Given the description of an element on the screen output the (x, y) to click on. 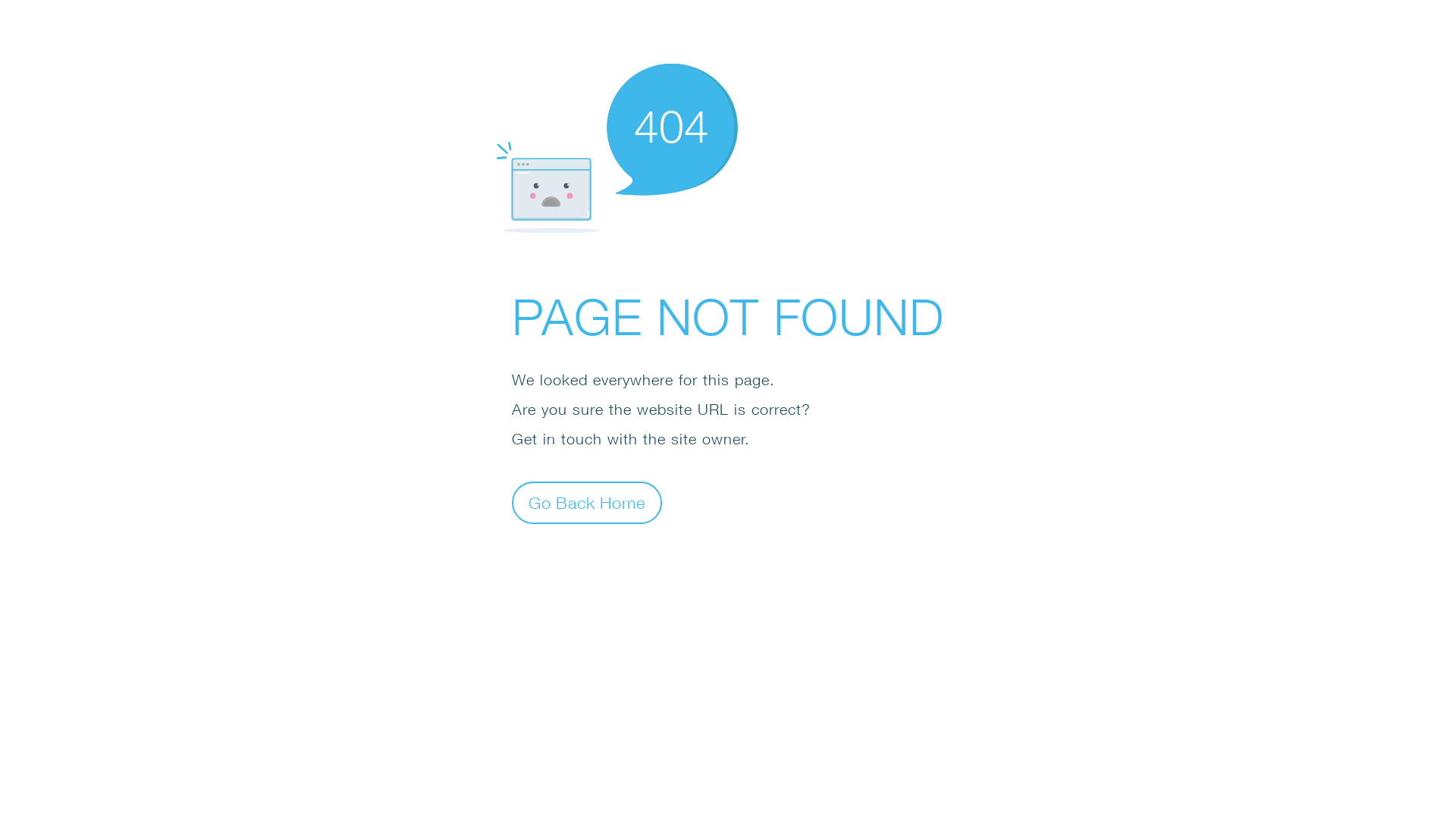
Go Back Home Element type: text (586, 502)
